Given the description of an element on the screen output the (x, y) to click on. 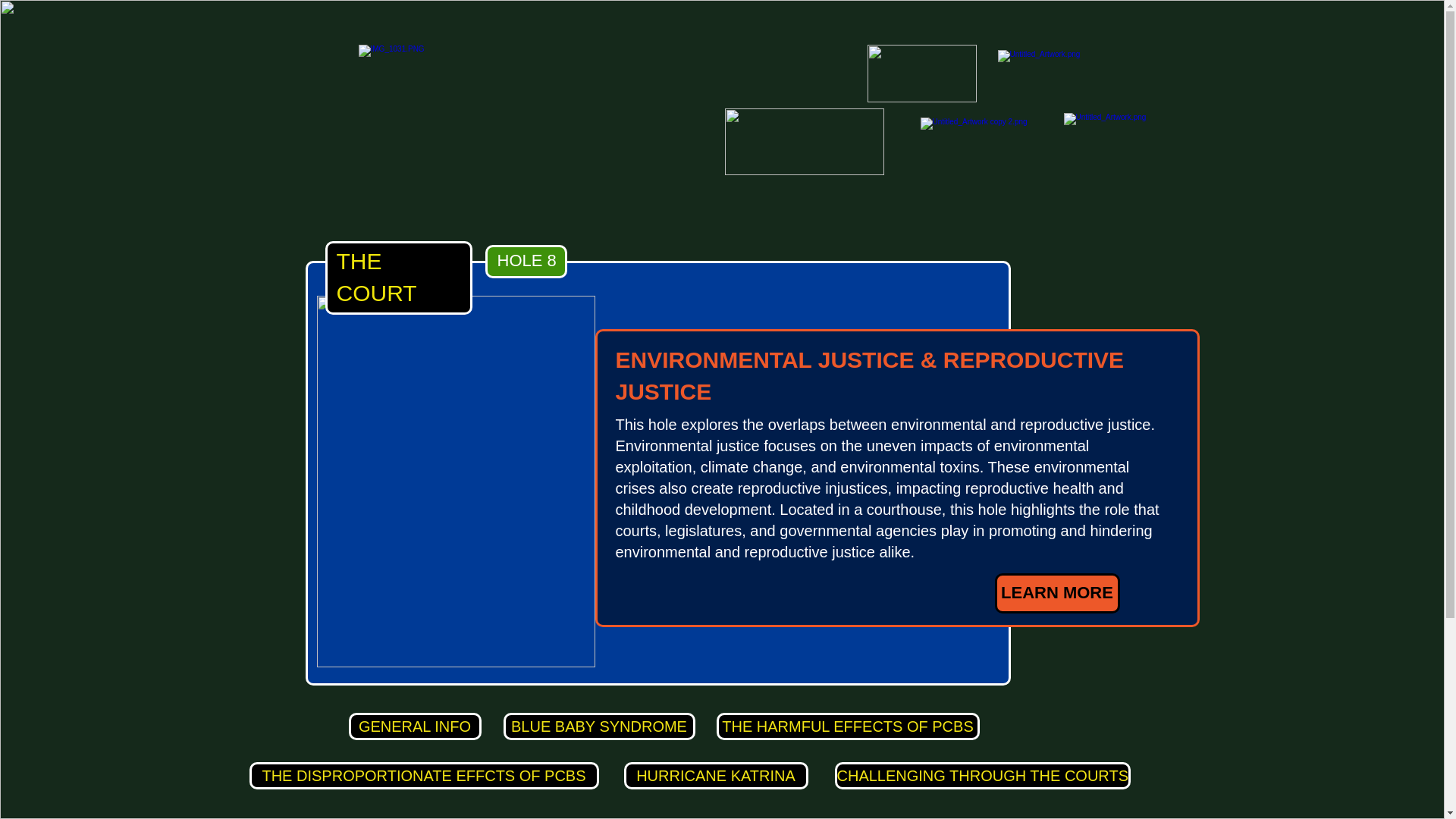
BLUE BABY SYNDROME (599, 726)
LEARN MORE (1056, 593)
THE HARMFUL EFFECTS OF PCBS (847, 726)
HURRICANE KATRINA (715, 775)
THE DISPROPORTIONATE EFFCTS OF PCBS (423, 775)
CHALLENGING THROUGH THE COURTS (982, 775)
GENERAL INFO (415, 726)
